Given the description of an element on the screen output the (x, y) to click on. 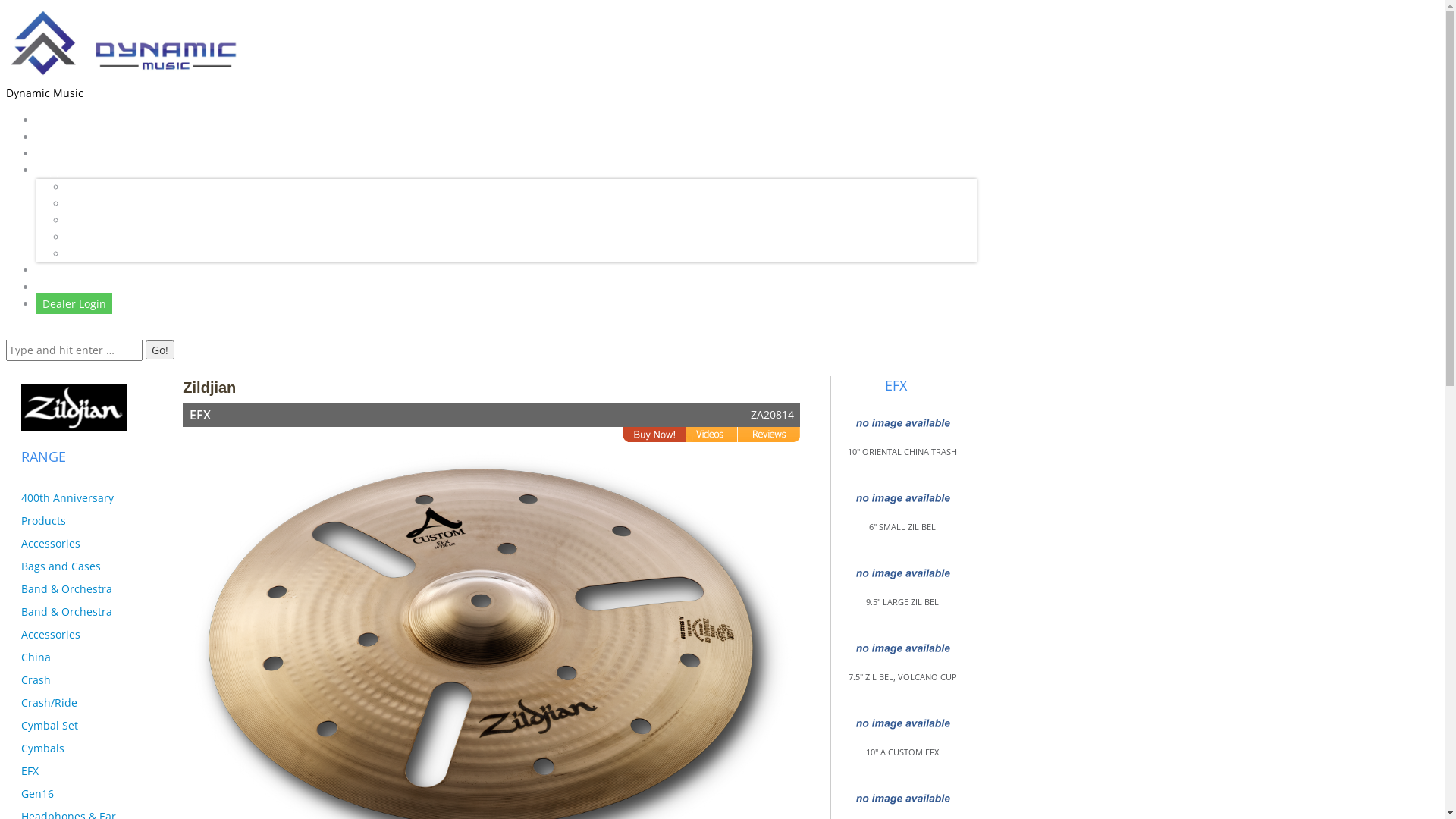
Band & Orchestra Accessories Element type: text (66, 622)
Accessories Element type: text (50, 543)
Contact Us Element type: text (63, 286)
Dr Zoom - Facebook Element type: text (116, 236)
EFX Element type: text (29, 770)
Cymbals Element type: text (42, 747)
FAQs Element type: text (79, 220)
Crash/Ride Element type: text (49, 702)
No videos are available for this product. Element type: hover (711, 434)
Brands Element type: text (54, 136)
Warranty Element type: text (89, 186)
Crash Element type: text (35, 679)
Band & Orchestra Element type: text (66, 588)
Owner Manuals Element type: text (106, 203)
No reviews are available for this product. Element type: hover (768, 434)
400th Anniversary Products Element type: text (67, 508)
China Element type: text (35, 656)
Home Element type: text (50, 119)
Buy Now! Element type: hover (653, 434)
Gen16 Element type: text (37, 793)
Dr Zoom - Twitter Element type: text (110, 253)
Find a Dealer Element type: text (69, 153)
Go! Element type: text (159, 349)
Cymbal Set Element type: text (49, 725)
Support Element type: text (56, 170)
MENU CLOSE back   Element type: text (56, 330)
Dealer Login Element type: text (74, 303)
About Us Element type: text (59, 270)
Bags and Cases Element type: text (60, 565)
